Given the description of an element on the screen output the (x, y) to click on. 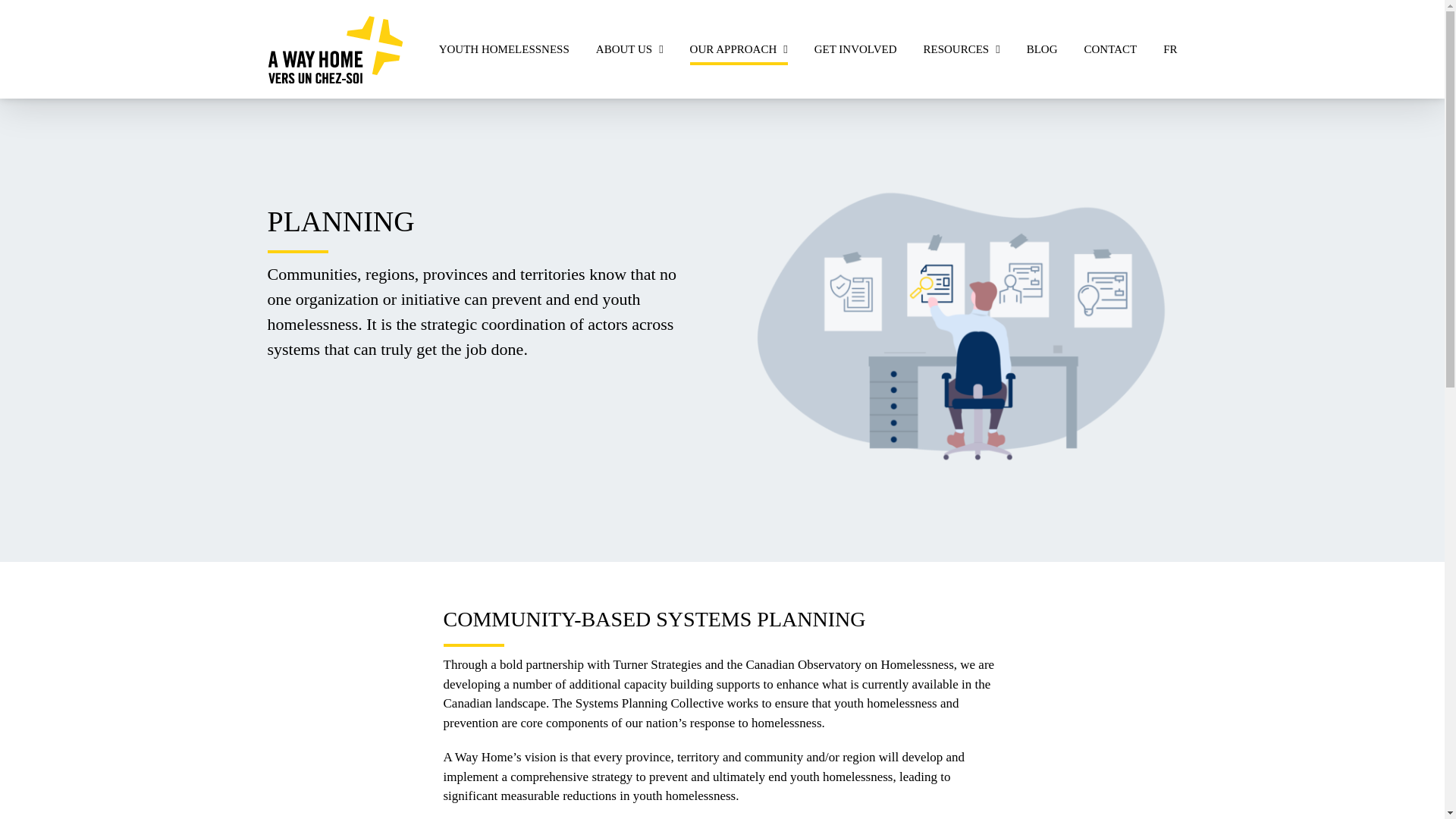
YOUTH HOMELESSNESS (504, 49)
OUR APPROACH (738, 49)
PLANNING (957, 322)
